Given the description of an element on the screen output the (x, y) to click on. 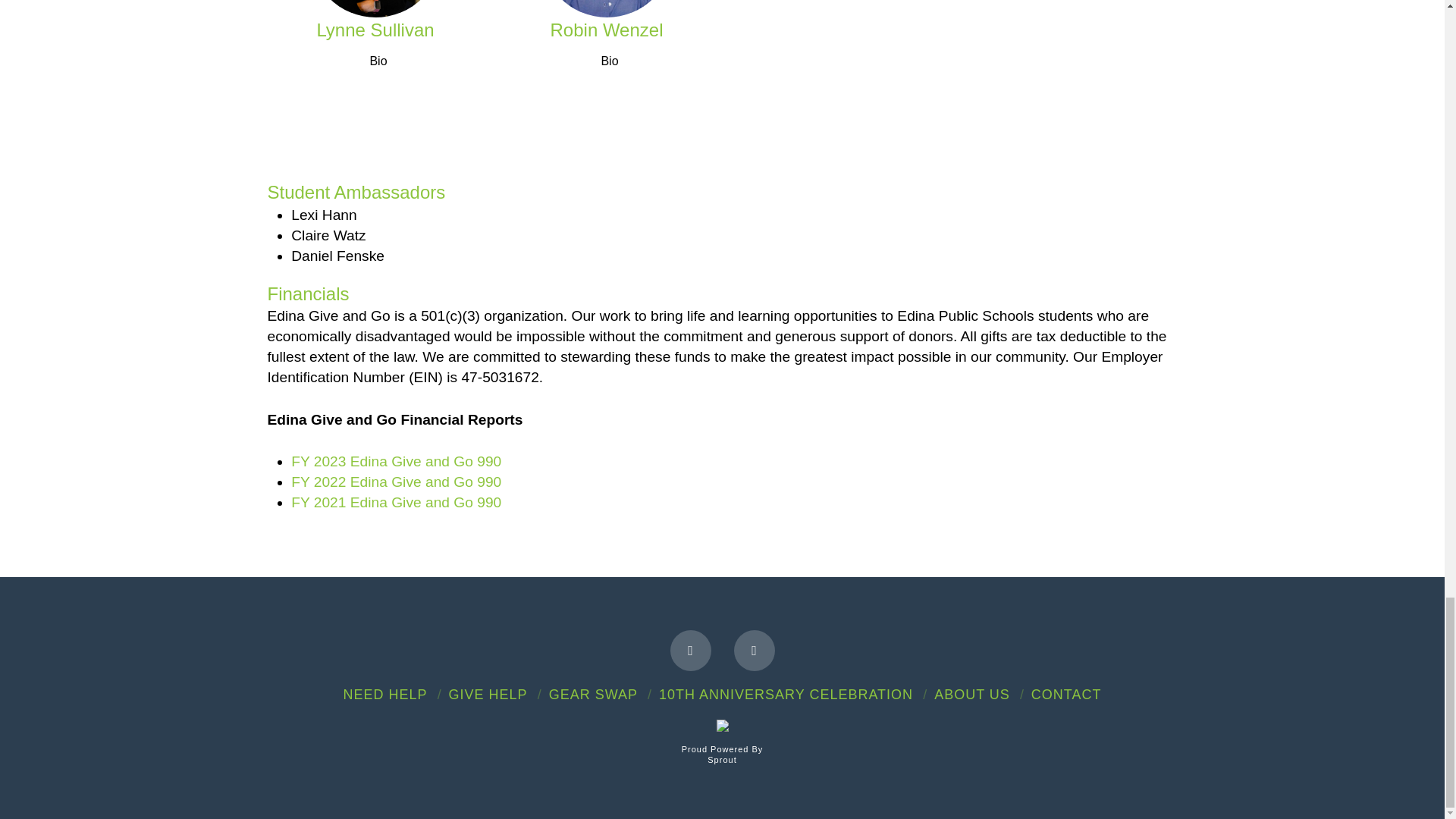
Bio (374, 61)
Bio (606, 61)
GIVE HELP (487, 694)
Facebook (690, 649)
NEED HELP (384, 694)
FY 2023 Edina Give and Go 990 (395, 461)
FY 2022 Edina Give and Go 990 (395, 481)
FY 2021 Edina Give and Go 990 (395, 502)
GEAR SWAP (592, 694)
10TH ANNIVERSARY CELEBRATION (785, 694)
